Given the description of an element on the screen output the (x, y) to click on. 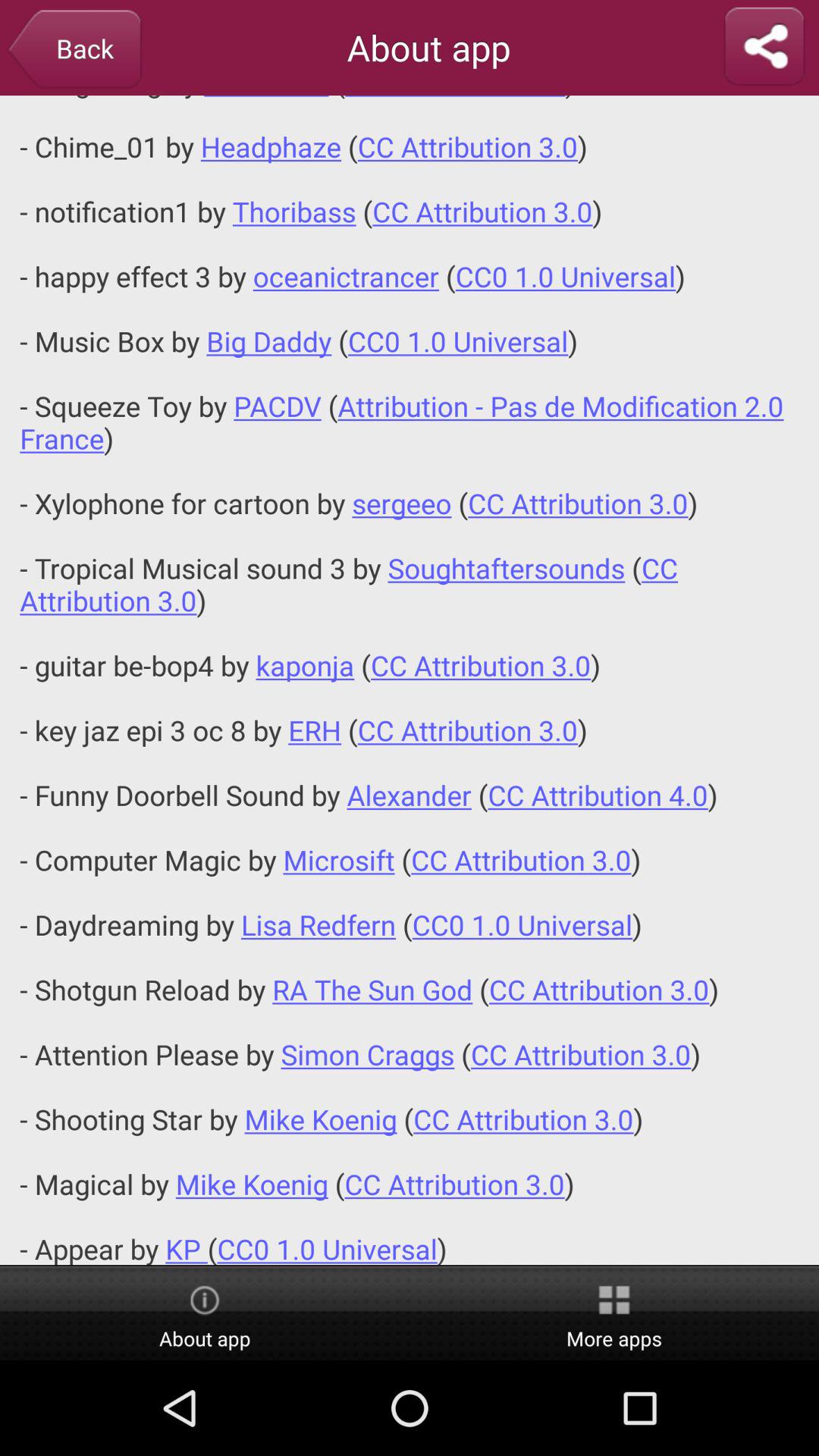
turn on back button (73, 50)
